Given the description of an element on the screen output the (x, y) to click on. 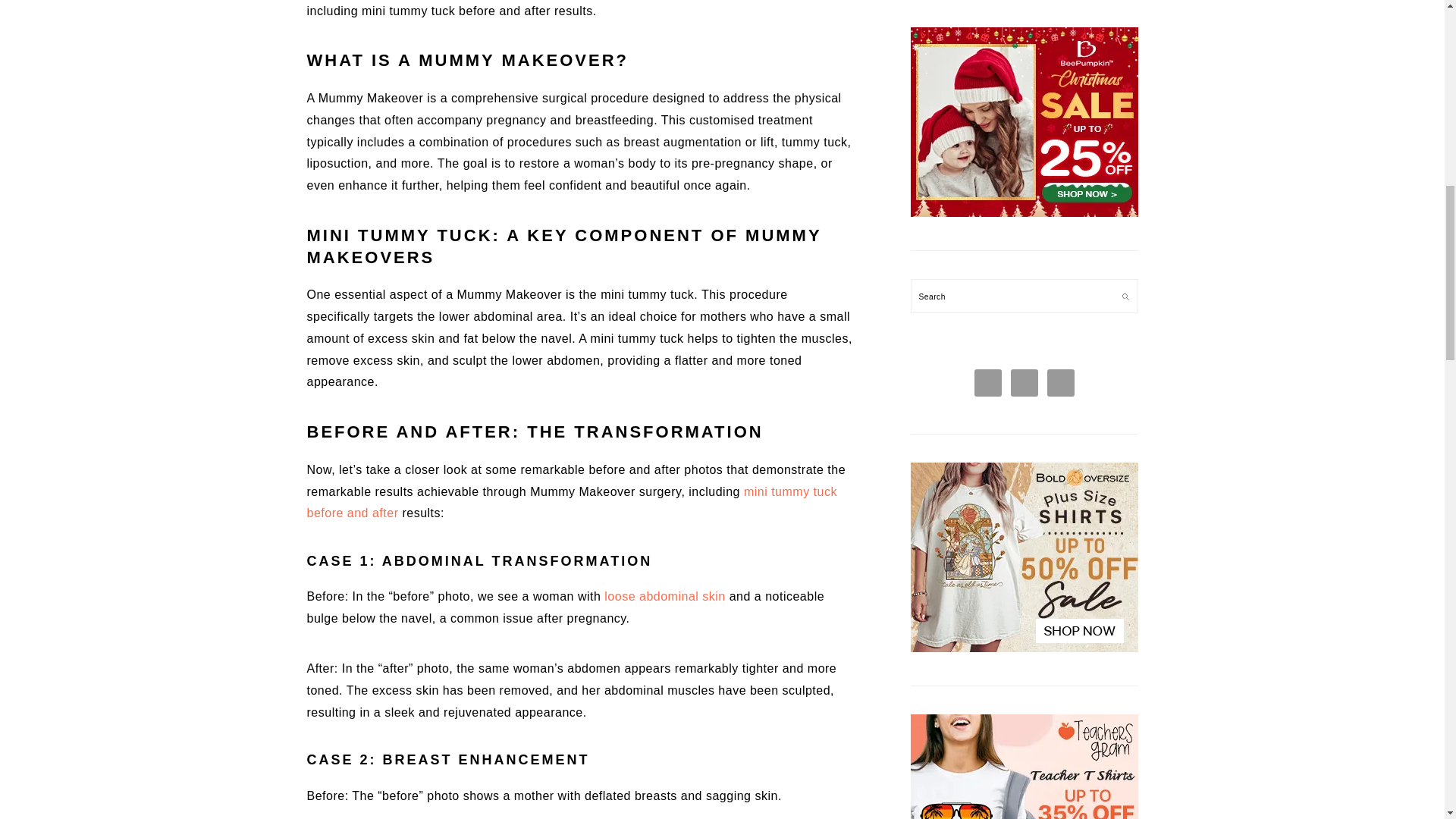
mini tummy tuck before and after (570, 502)
oversized shirt (1023, 648)
family christmas shirts (1023, 213)
loose abdominal skin (664, 595)
